Given the description of an element on the screen output the (x, y) to click on. 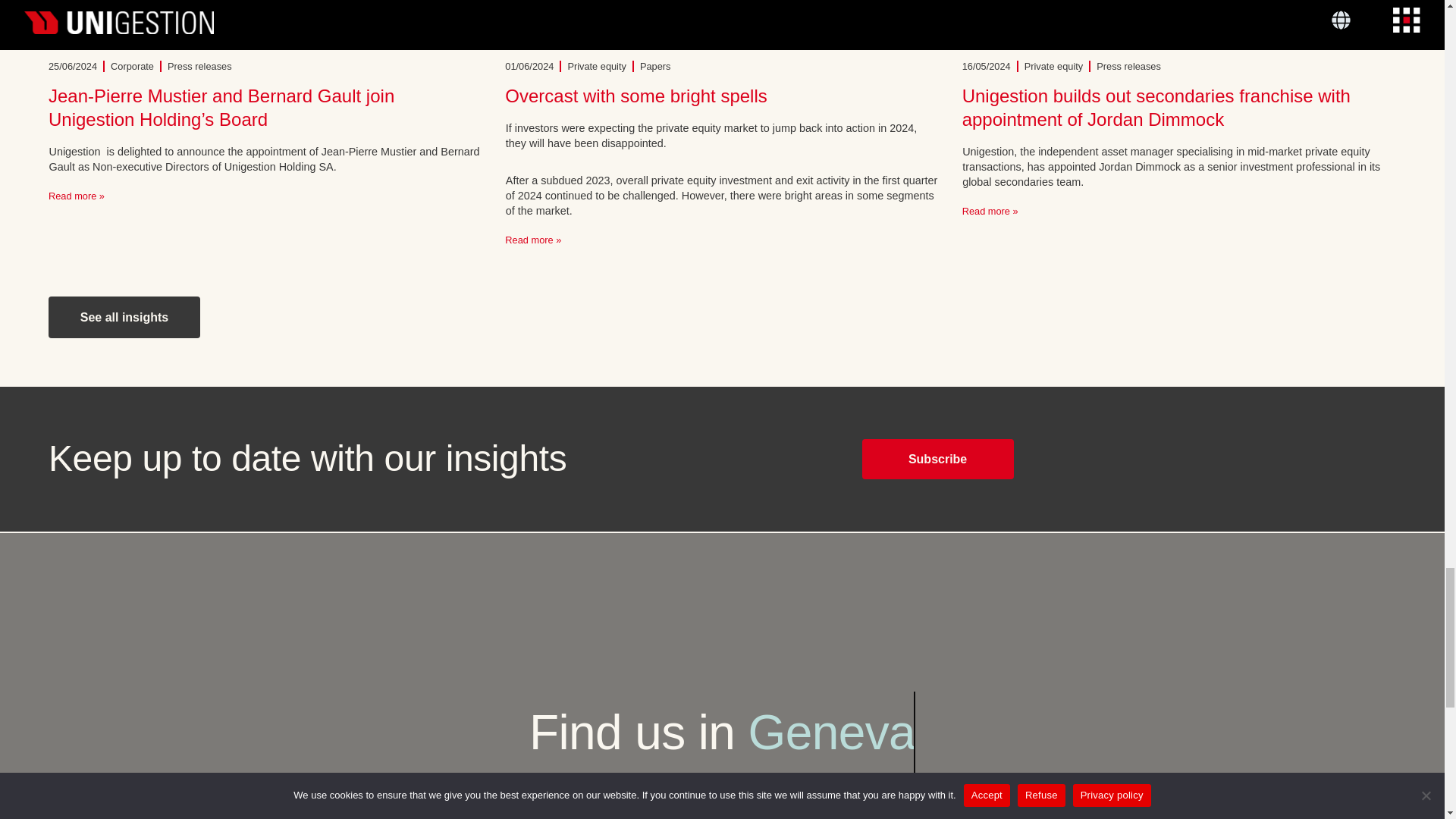
Overcast with some bright spells (636, 95)
Subscribe (937, 458)
See all insights (124, 317)
